Given the description of an element on the screen output the (x, y) to click on. 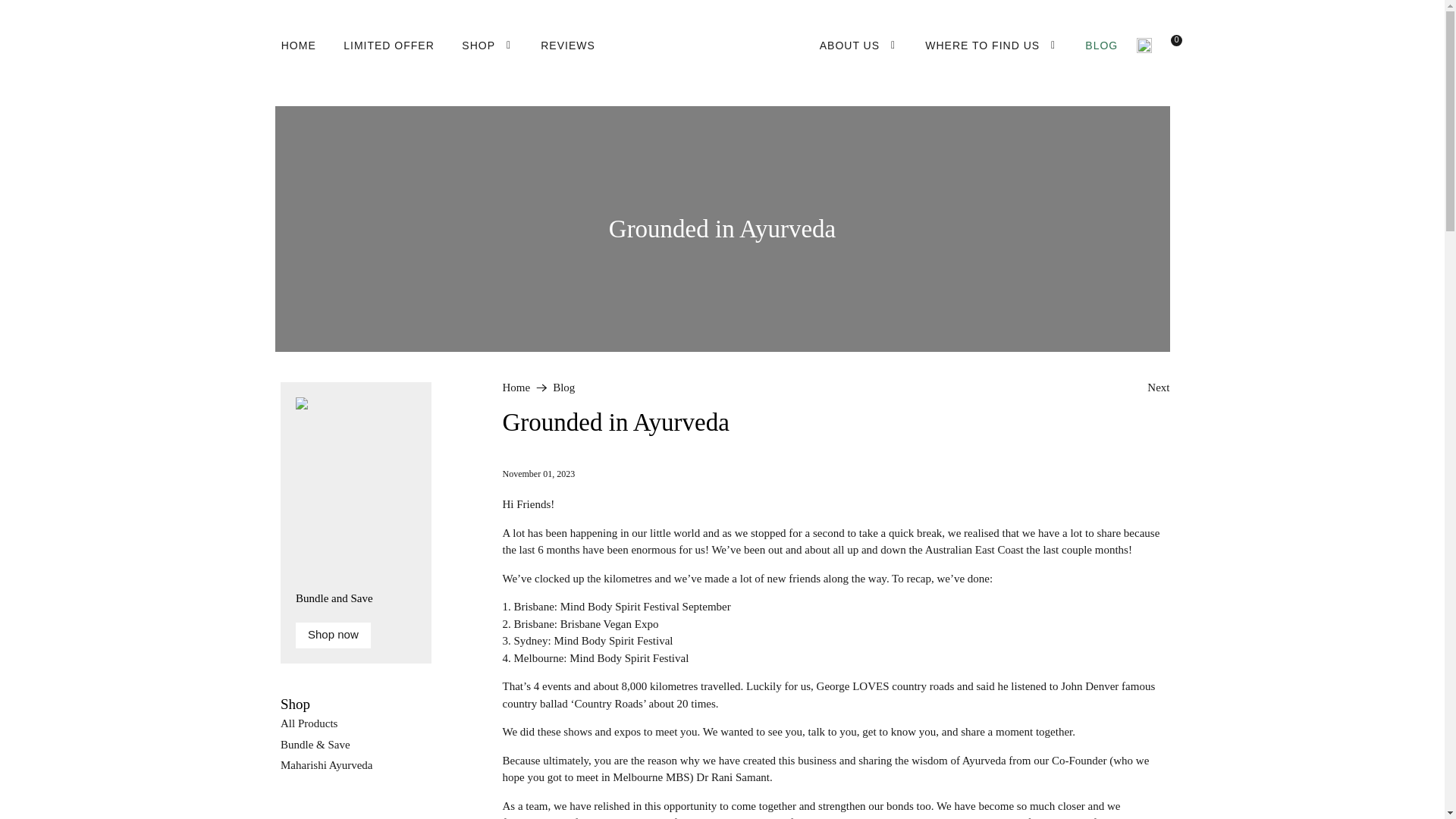
Holy Sanity  (515, 387)
All Products (309, 723)
Next (1158, 387)
Maharishi Ayurveda (326, 765)
Holy Sanity  (721, 45)
Blog (564, 387)
